Given the description of an element on the screen output the (x, y) to click on. 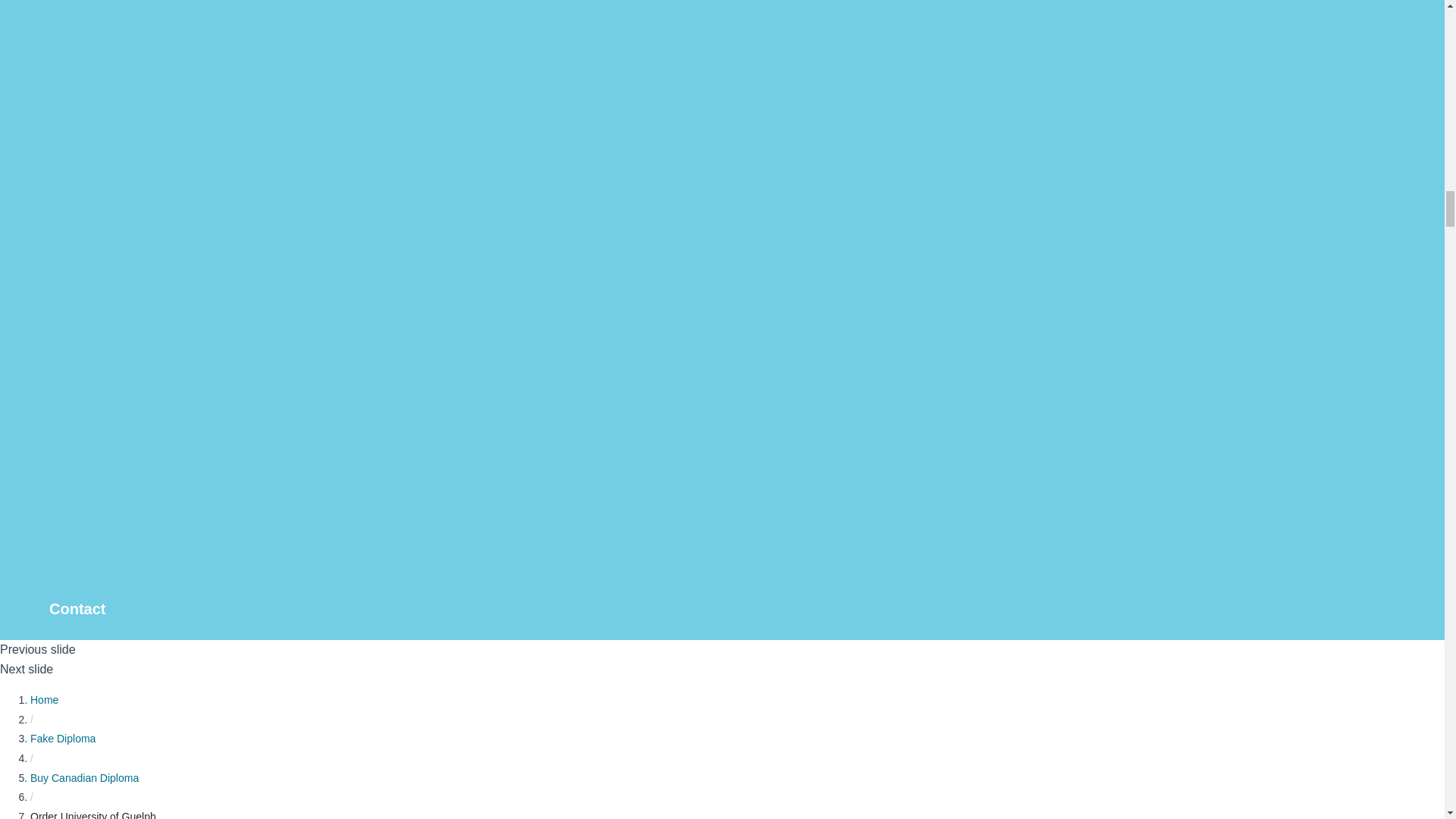
Contact (162, 608)
Category Name (63, 738)
Buy Canadian Diploma (84, 777)
Order University of Guelph diploma, buy U of G degree online (97, 814)
